Given the description of an element on the screen output the (x, y) to click on. 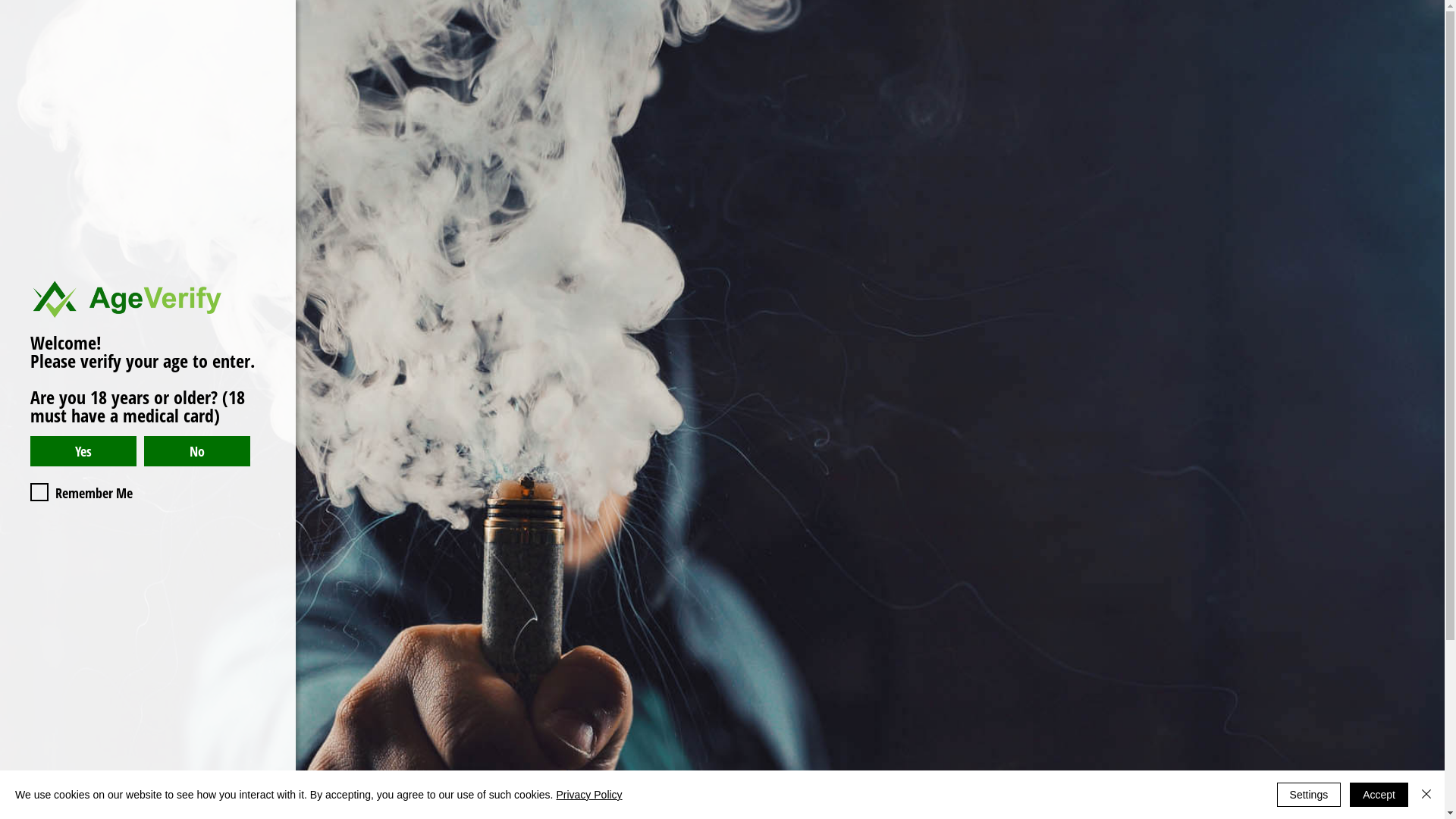
Home Element type: text (276, 52)
- Element type: text (432, 207)
Post not marked as liked Element type: text (1414, 496)
ORDER NOW Element type: text (1325, 52)
1 Element type: text (76, 495)
Privacy Policy Element type: text (588, 794)
Contact Element type: text (760, 52)
0 Element type: text (810, 495)
Yes Element type: text (83, 451)
Blog Element type: text (570, 52)
20 Past 4 Element type: text (799, 207)
All Posts Element type: text (36, 134)
1 like. Post not marked as liked
1 Element type: text (1043, 495)
Menu Element type: text (351, 52)
Settings Element type: text (1309, 794)
Log In Element type: text (1232, 51)
No Element type: text (197, 451)
Holiday Hours Element type: text (959, 52)
Happy Danksgiving! 2021 Element type: text (1272, 471)
Loyalty Element type: text (430, 52)
2 likes. Post not marked as liked
2 Element type: text (675, 495)
Locations Element type: text (1068, 52)
20 Past 4 Element type: text (65, 574)
WHATS UP JACKSON MICHIGAN IT'S OUR 2 YEAR ANNIVERSARY! Element type: text (171, 447)
Accept Element type: text (1378, 794)
Educational Element type: text (658, 52)
- Element type: text (63, 207)
20 Past 4 Element type: text (1167, 207)
Jackson Michigan Cannabis News! Element type: text (538, 459)
20 Past 4 Element type: text (432, 574)
About Us Element type: text (853, 52)
0 Element type: text (443, 495)
0 Element type: text (1178, 495)
1 like. Post not marked as liked
1 Element type: text (308, 495)
FAQ Element type: text (504, 52)
Huge Turkey Givaway! Element type: text (905, 471)
